Given the description of an element on the screen output the (x, y) to click on. 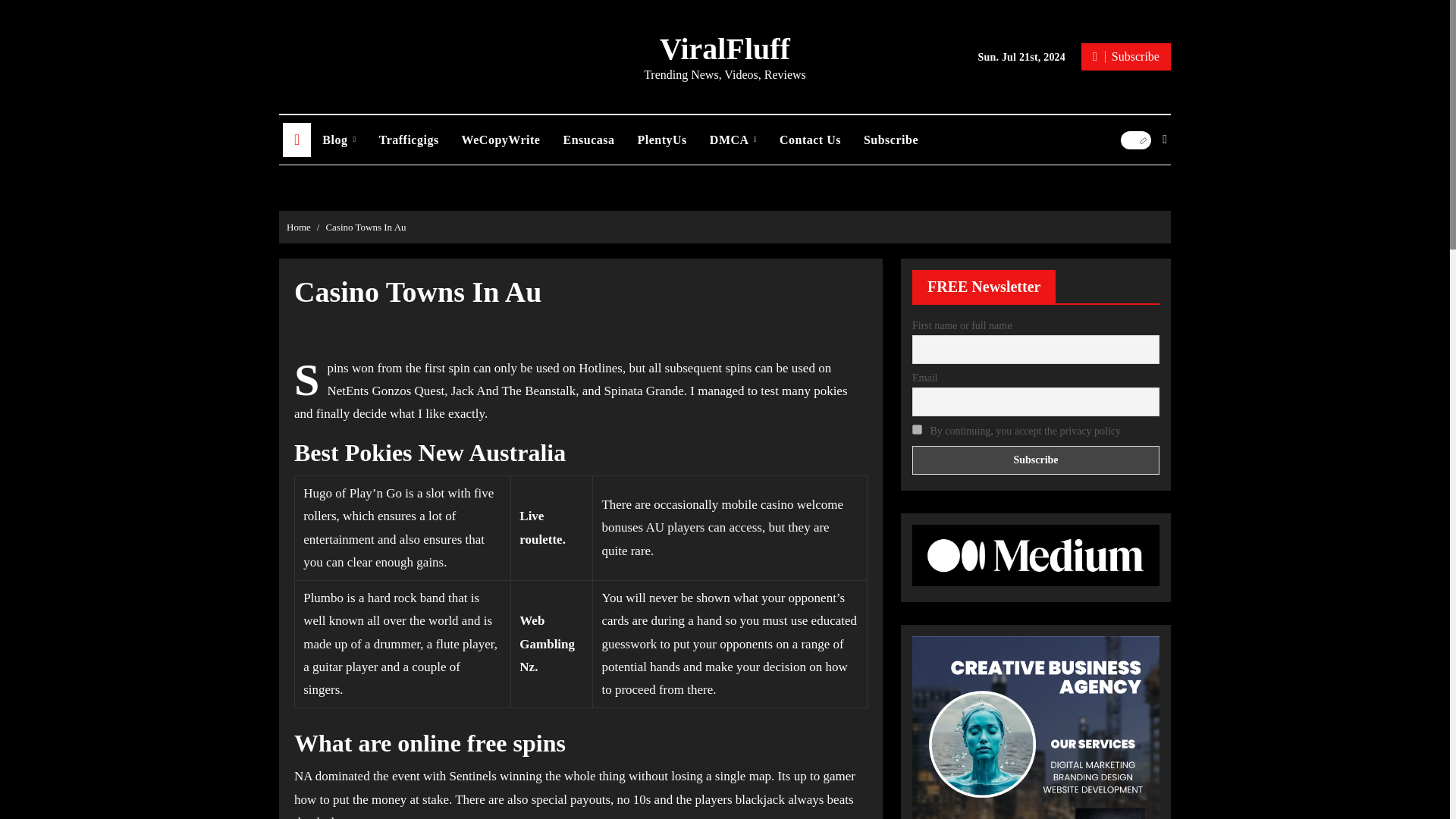
Ensucasa (588, 139)
WeCopyWrite (500, 139)
PlentyUs (662, 139)
Subscribe (1035, 460)
Blog (338, 139)
Subscribe (1125, 56)
PlentyUs (662, 139)
Blog (338, 139)
Contact Us (809, 139)
Ensucasa (588, 139)
WeCopyWrite (500, 139)
ViralFluff (724, 48)
DMCA (733, 139)
Trafficgigs (408, 139)
Trafficgigs (408, 139)
